Given the description of an element on the screen output the (x, y) to click on. 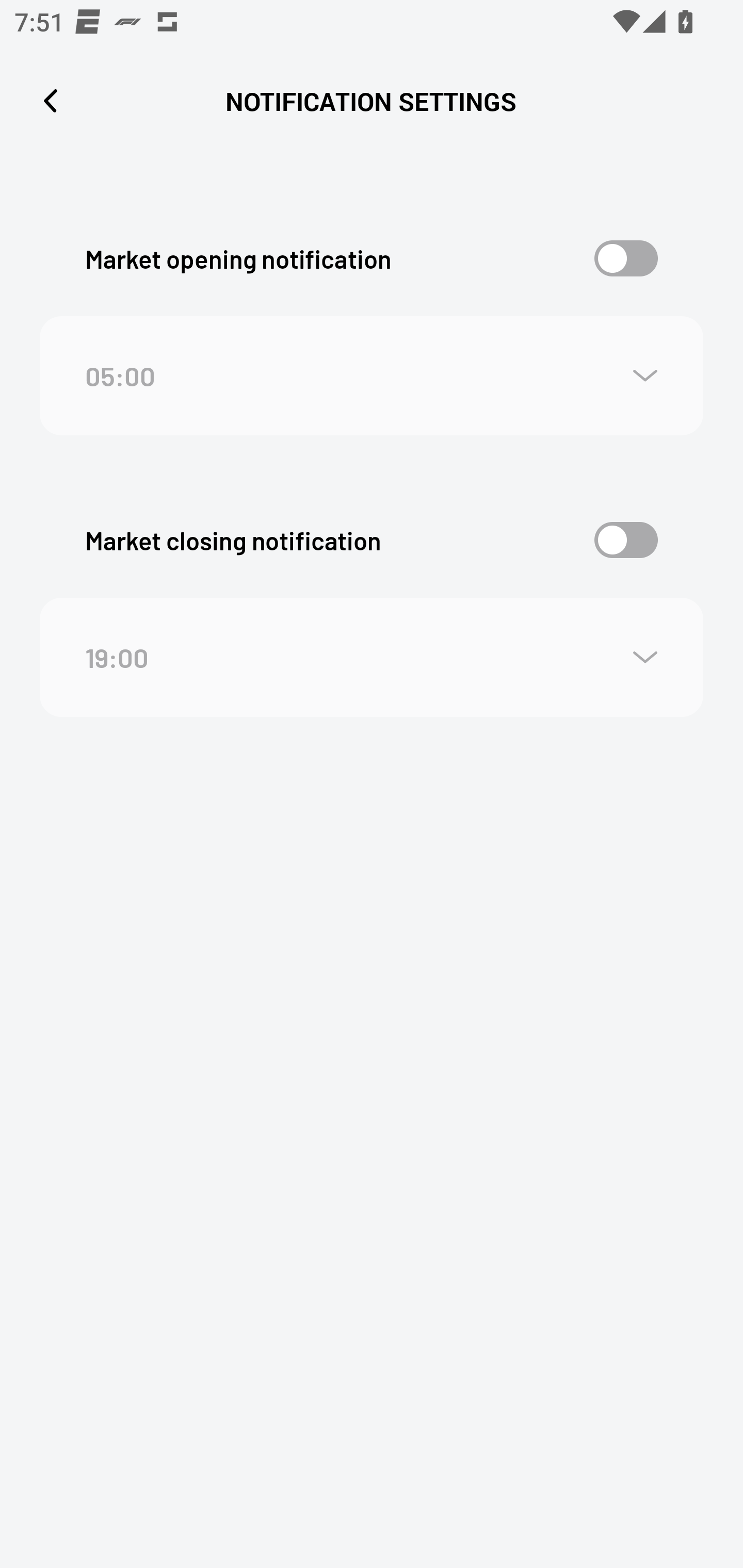
Leading Icon (50, 101)
05:00 Open Setting (371, 375)
19:00 Open Setting (371, 656)
